Given the description of an element on the screen output the (x, y) to click on. 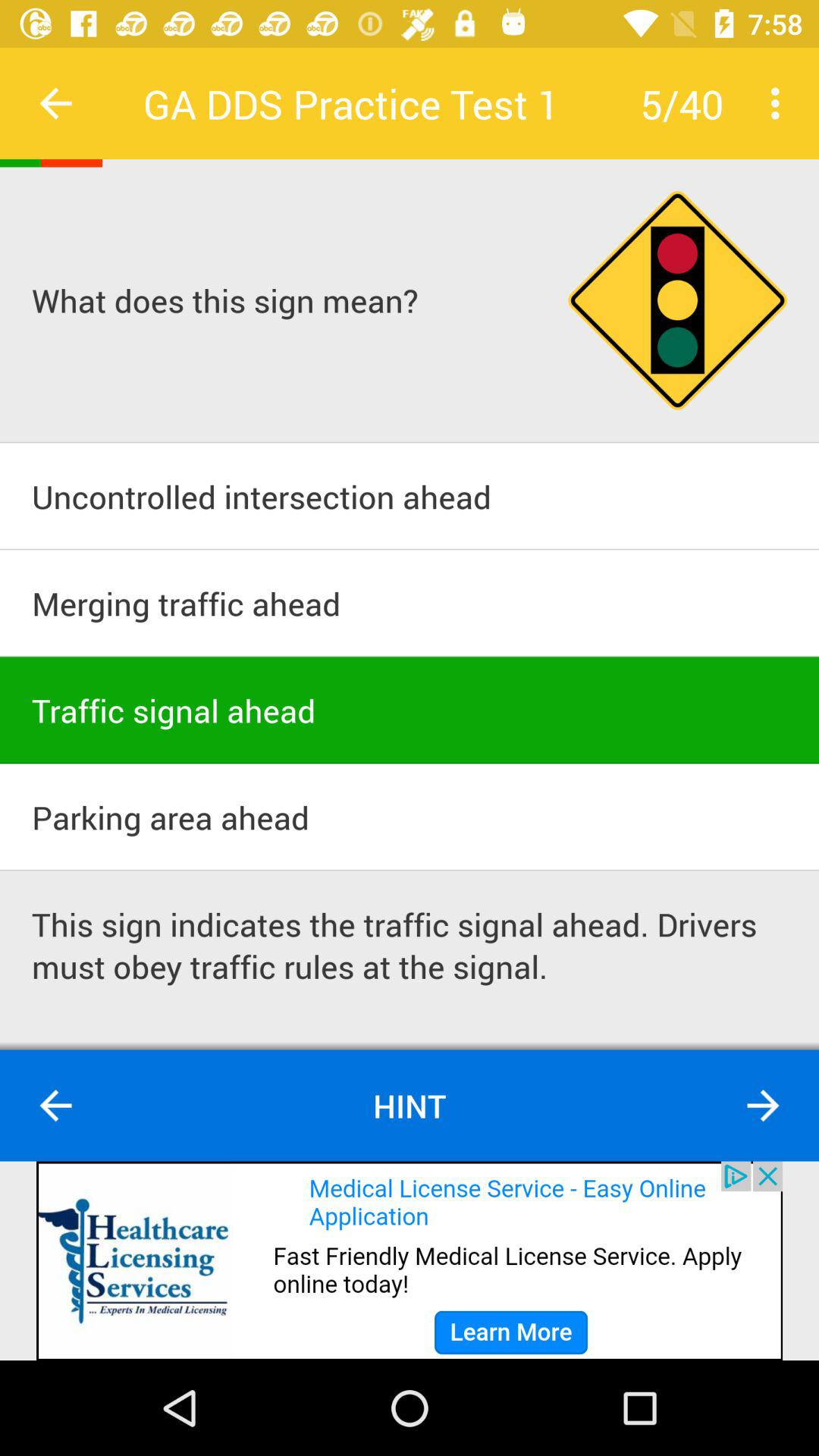
go to cignal (677, 300)
